Given the description of an element on the screen output the (x, y) to click on. 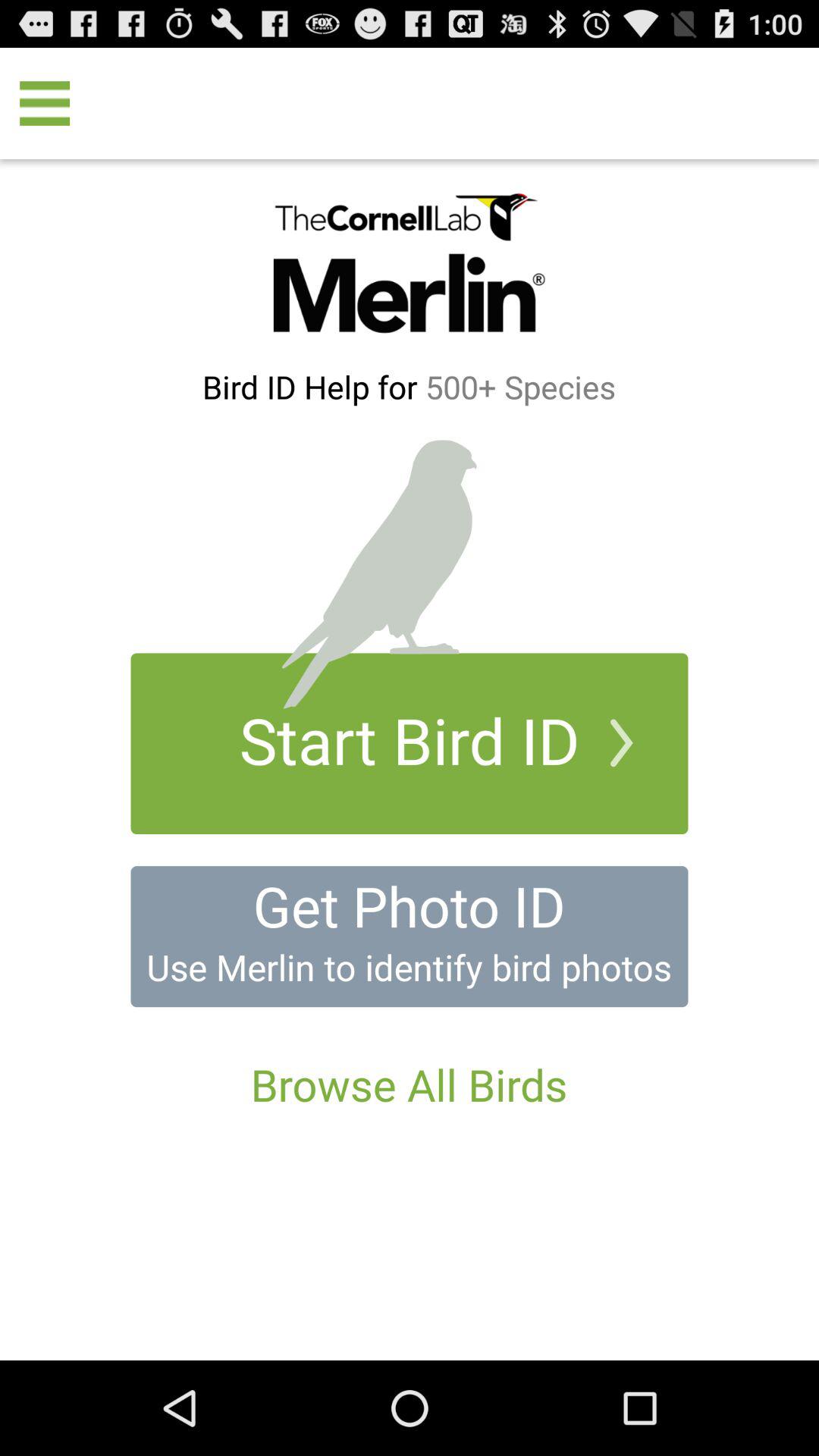
select get photo id icon (409, 905)
